Given the description of an element on the screen output the (x, y) to click on. 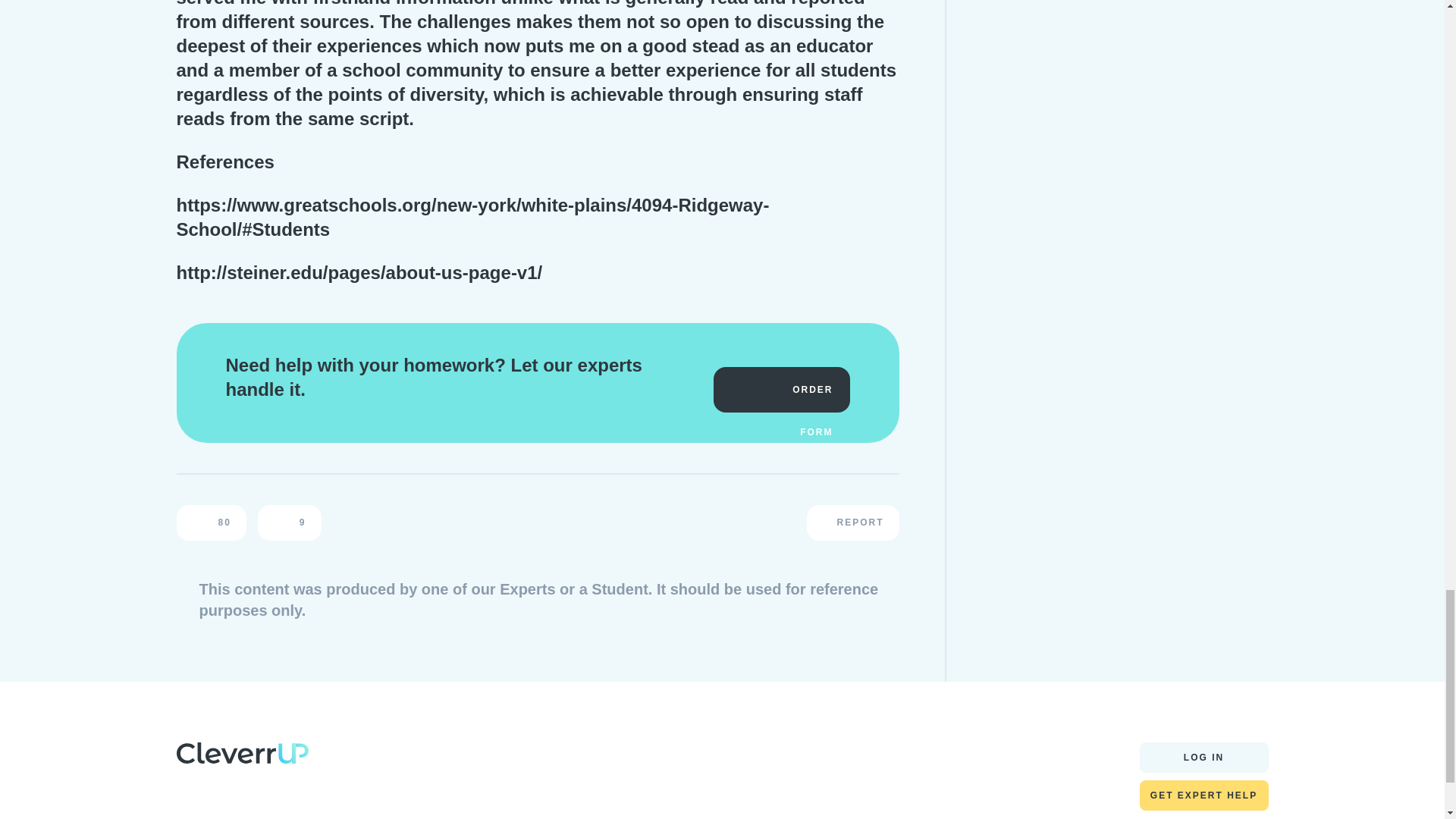
Home (241, 756)
REPORT (852, 522)
80 (211, 522)
9 (289, 522)
logo (241, 752)
ORDER FORM (780, 389)
